Given the description of an element on the screen output the (x, y) to click on. 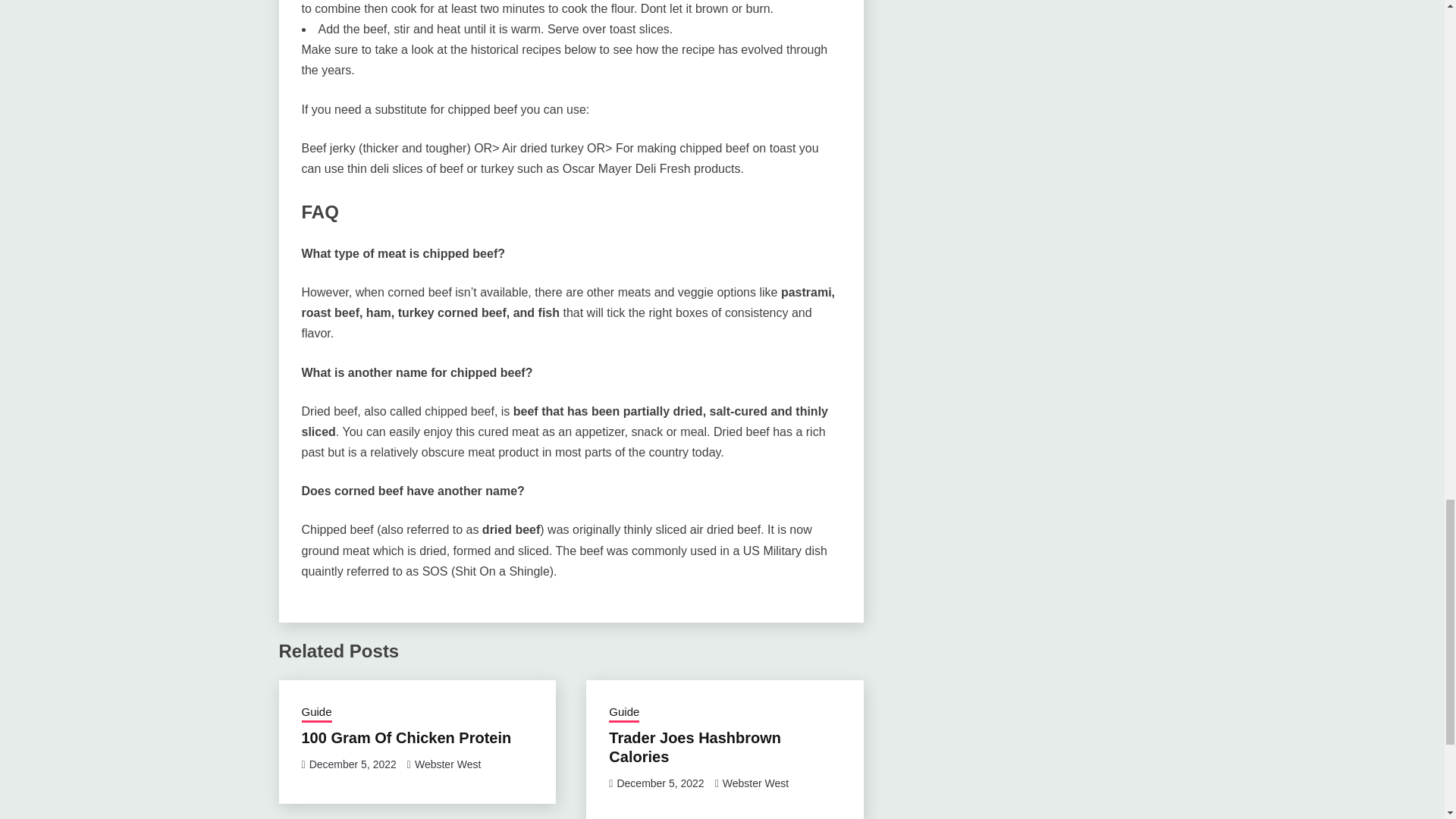
Trader Joes Hashbrown Calories (694, 746)
Webster West (447, 764)
100 Gram Of Chicken Protein (406, 737)
Guide (623, 713)
Guide (316, 713)
December 5, 2022 (659, 783)
Webster West (755, 783)
December 5, 2022 (352, 764)
